Given the description of an element on the screen output the (x, y) to click on. 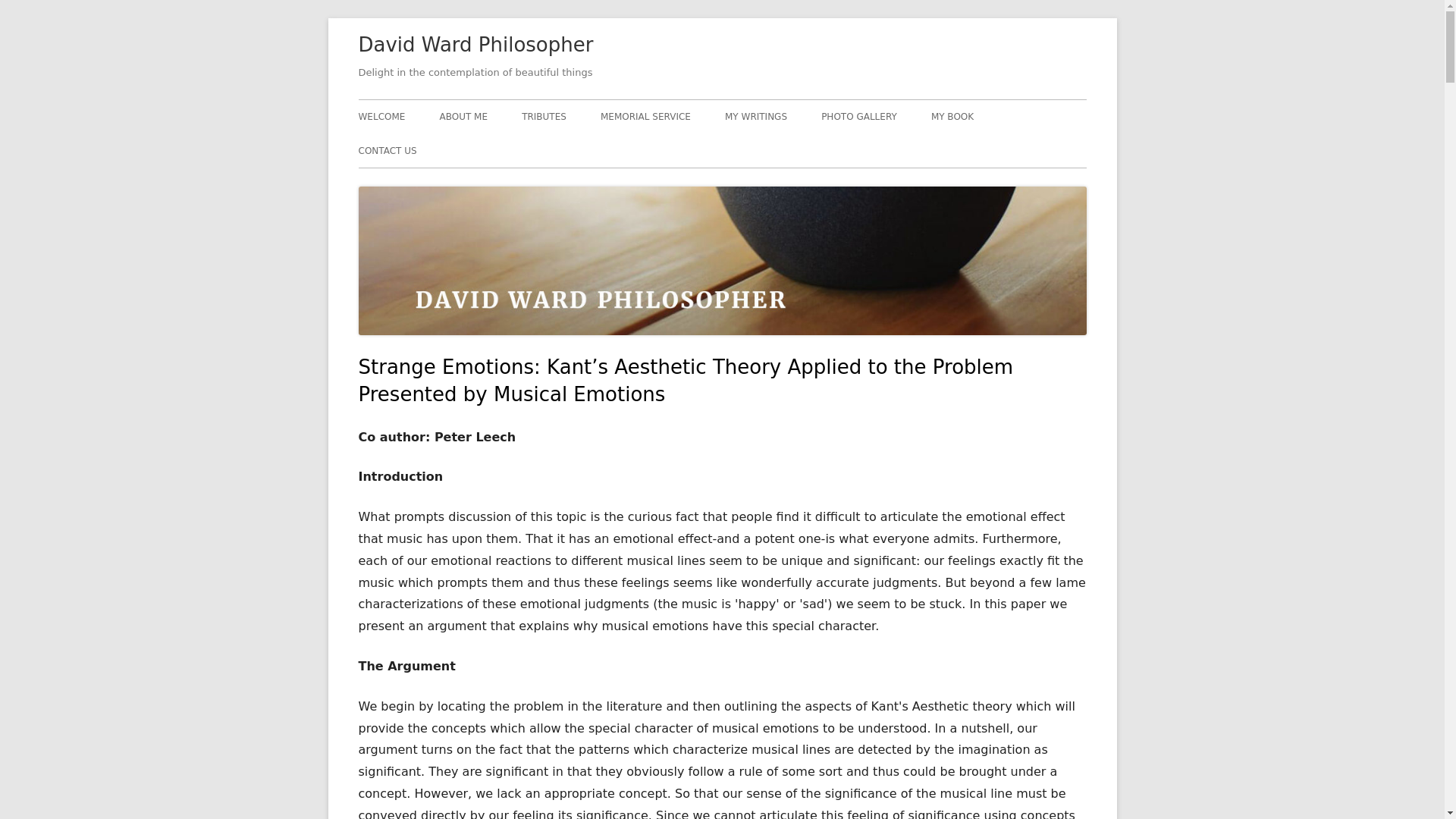
WELCOME (381, 116)
MEMORIAL SERVICE (644, 116)
MY BOOK (952, 116)
CONTACT US (387, 150)
MY WRITINGS (756, 116)
ABOUT ME (463, 116)
TRIBUTES (543, 116)
PHOTO GALLERY (858, 116)
David Ward Philosopher (475, 45)
